Given the description of an element on the screen output the (x, y) to click on. 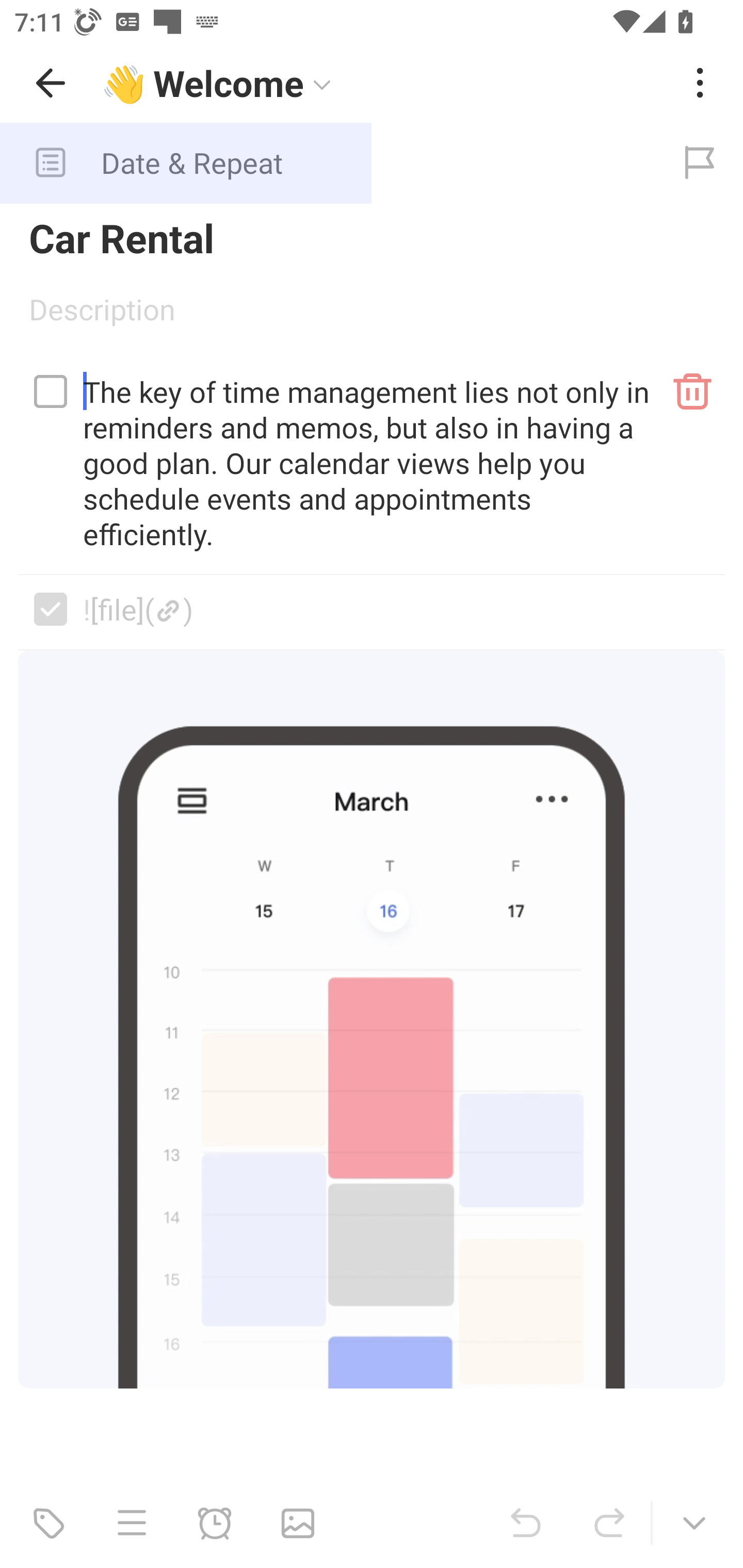
👋 Welcome (384, 82)
Date & Repeat (328, 163)
Car Rental (371, 237)
Description (371, 315)
  (50, 390)
  (50, 608)
